Given the description of an element on the screen output the (x, y) to click on. 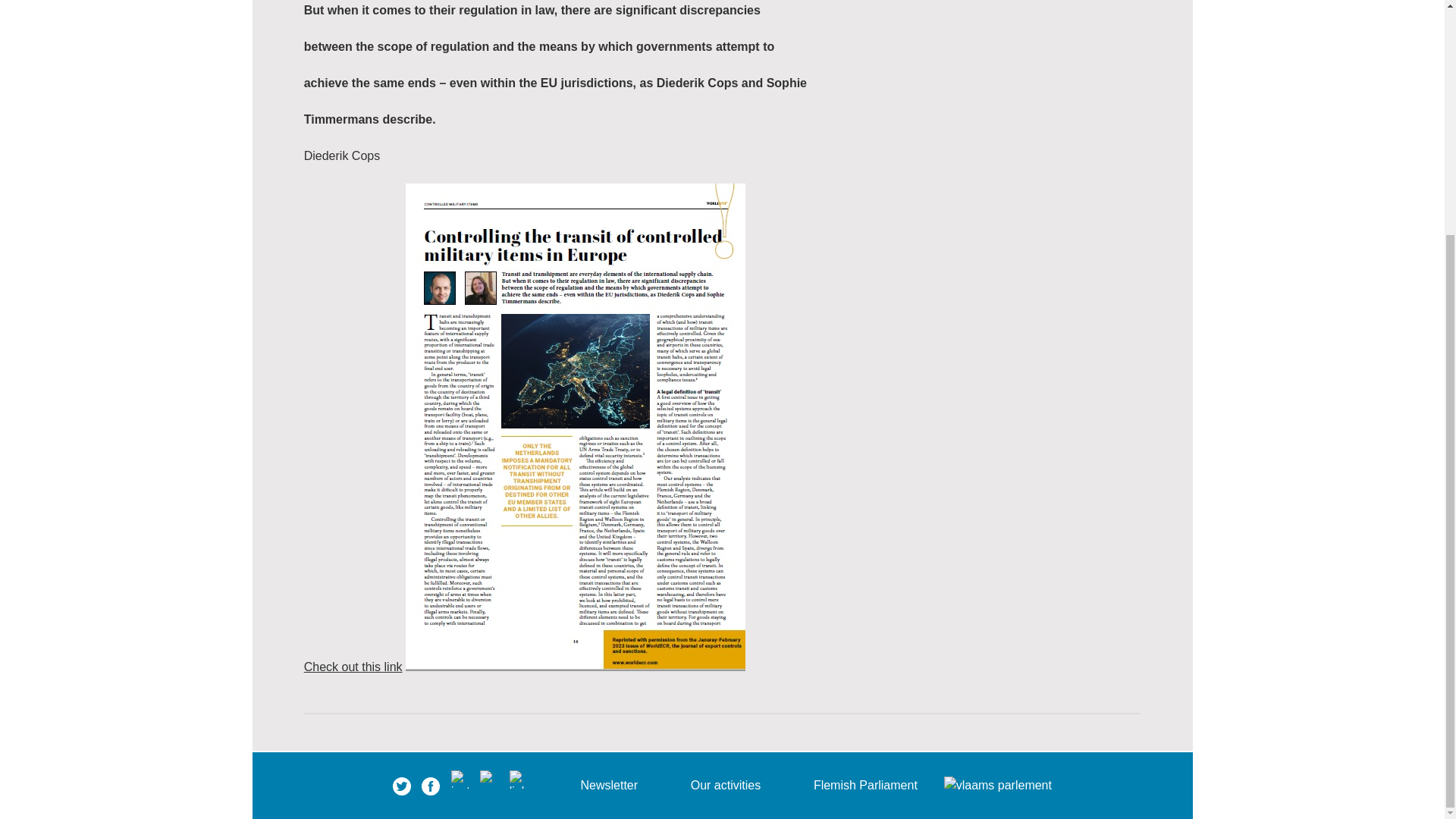
Flemish Parliament (865, 785)
Our activities (725, 785)
Newsletter (608, 785)
Check out this link (353, 666)
